Given the description of an element on the screen output the (x, y) to click on. 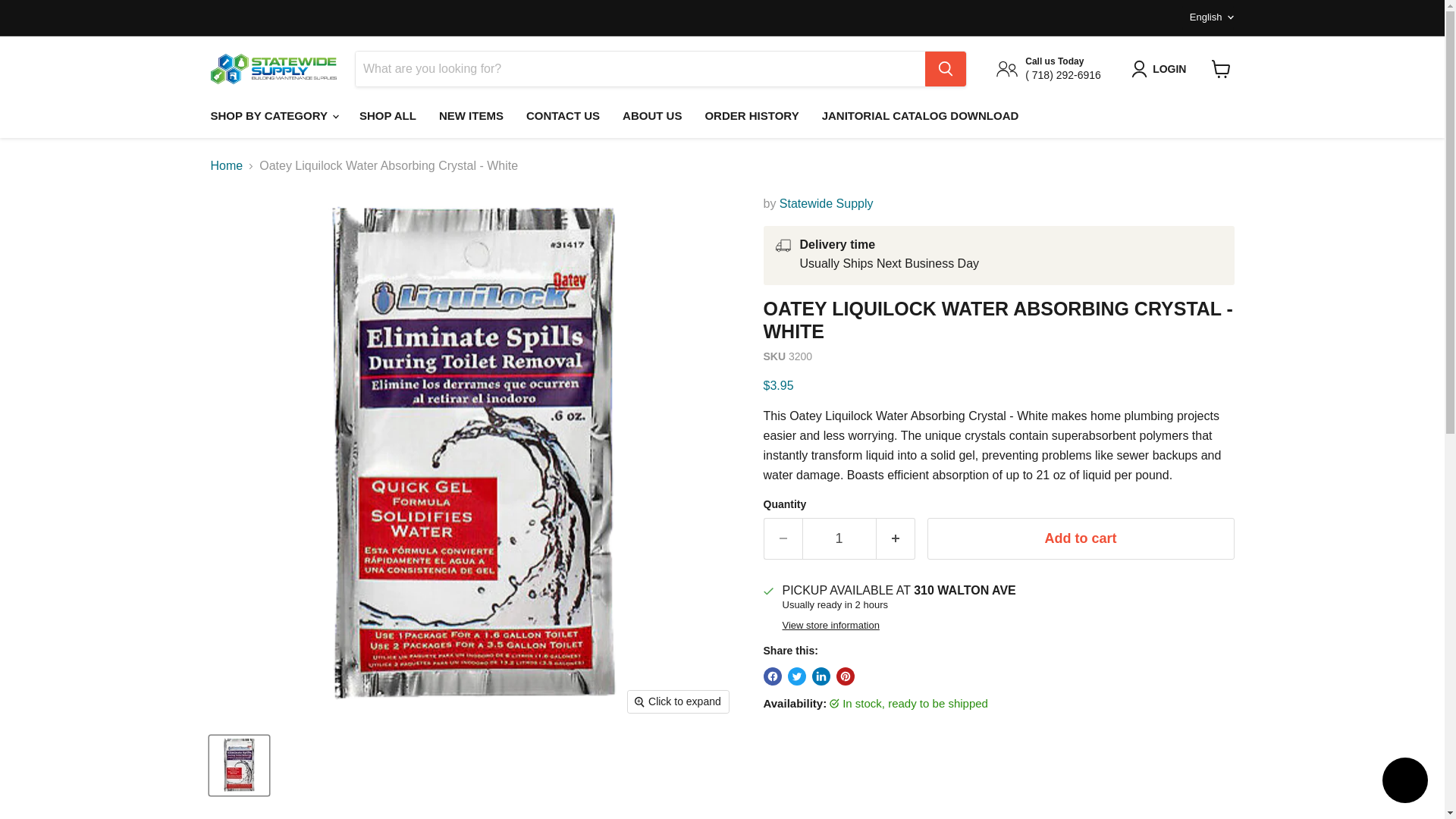
NEW ITEMS (471, 115)
LOGIN (1161, 68)
Statewide Supply (825, 203)
English (1208, 17)
CONTACT US (563, 115)
View cart (1221, 68)
ABOUT US (652, 115)
1 (839, 538)
Shopify online store chat (1404, 781)
SHOP ALL (387, 115)
